Given the description of an element on the screen output the (x, y) to click on. 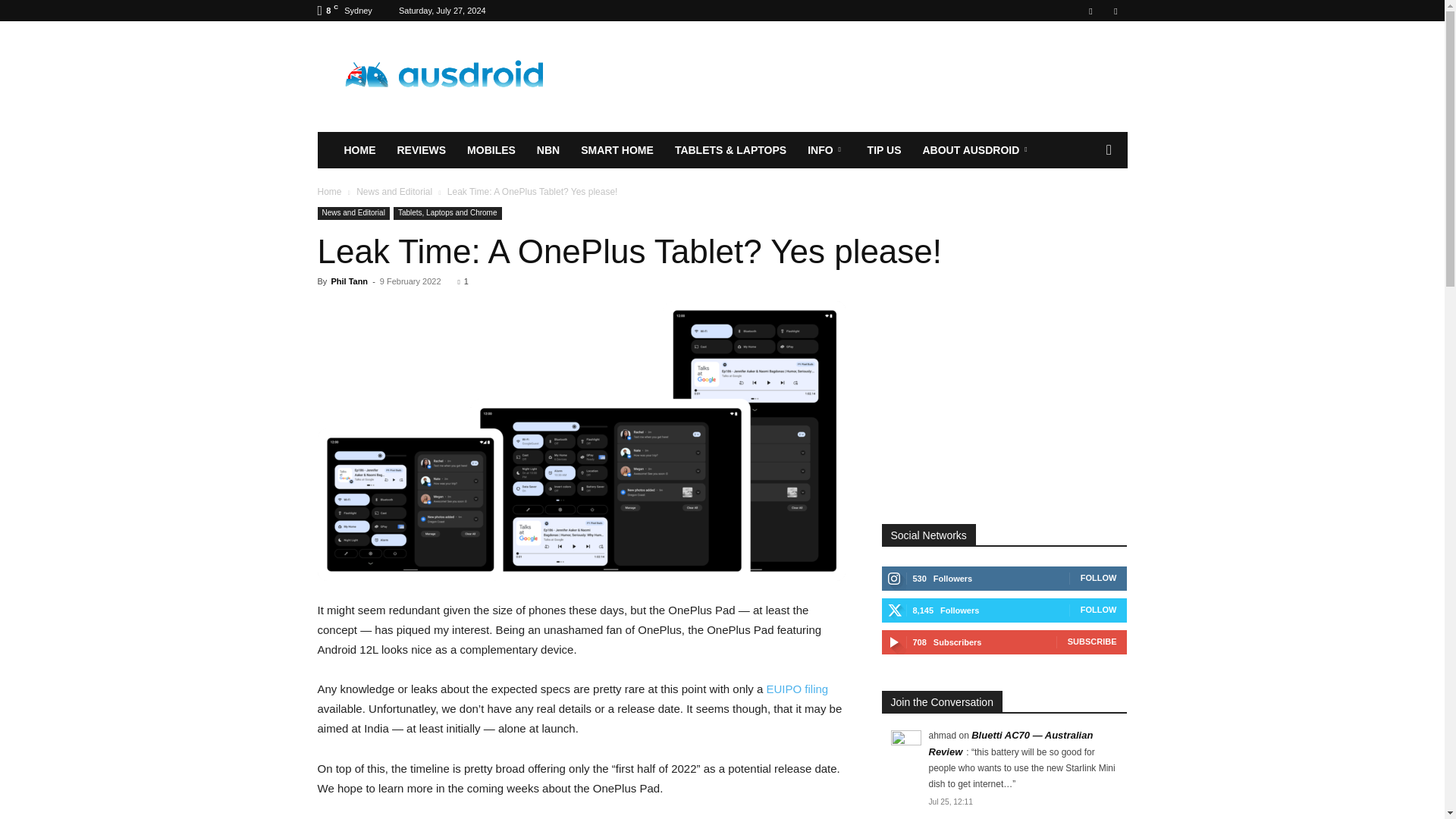
INFO (826, 149)
REVIEWS (422, 149)
HOME (360, 149)
View all posts in News and Editorial (394, 191)
MOBILES (491, 149)
Twitter (1114, 10)
Advertisement (850, 76)
Ausdroid Logo (445, 76)
Telegram (1090, 10)
NBN (547, 149)
SMART HOME (616, 149)
